Given the description of an element on the screen output the (x, y) to click on. 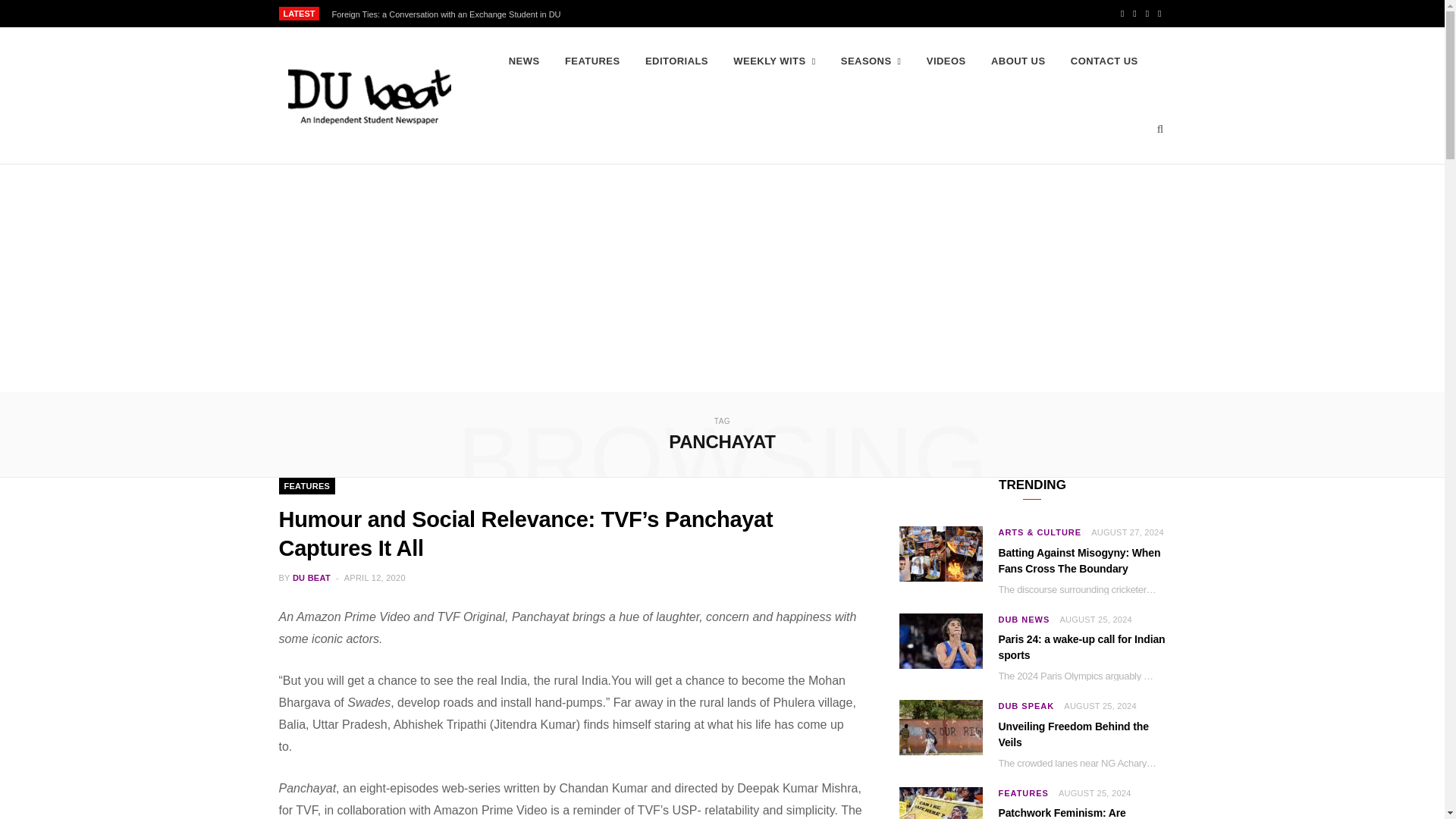
Foreign Ties: a Conversation with an Exchange Student in DU (449, 14)
EDITORIALS (676, 61)
Foreign Ties: a Conversation with an Exchange Student in DU (449, 14)
WEEKLY WITS (774, 61)
FEATURES (592, 61)
